Given the description of an element on the screen output the (x, y) to click on. 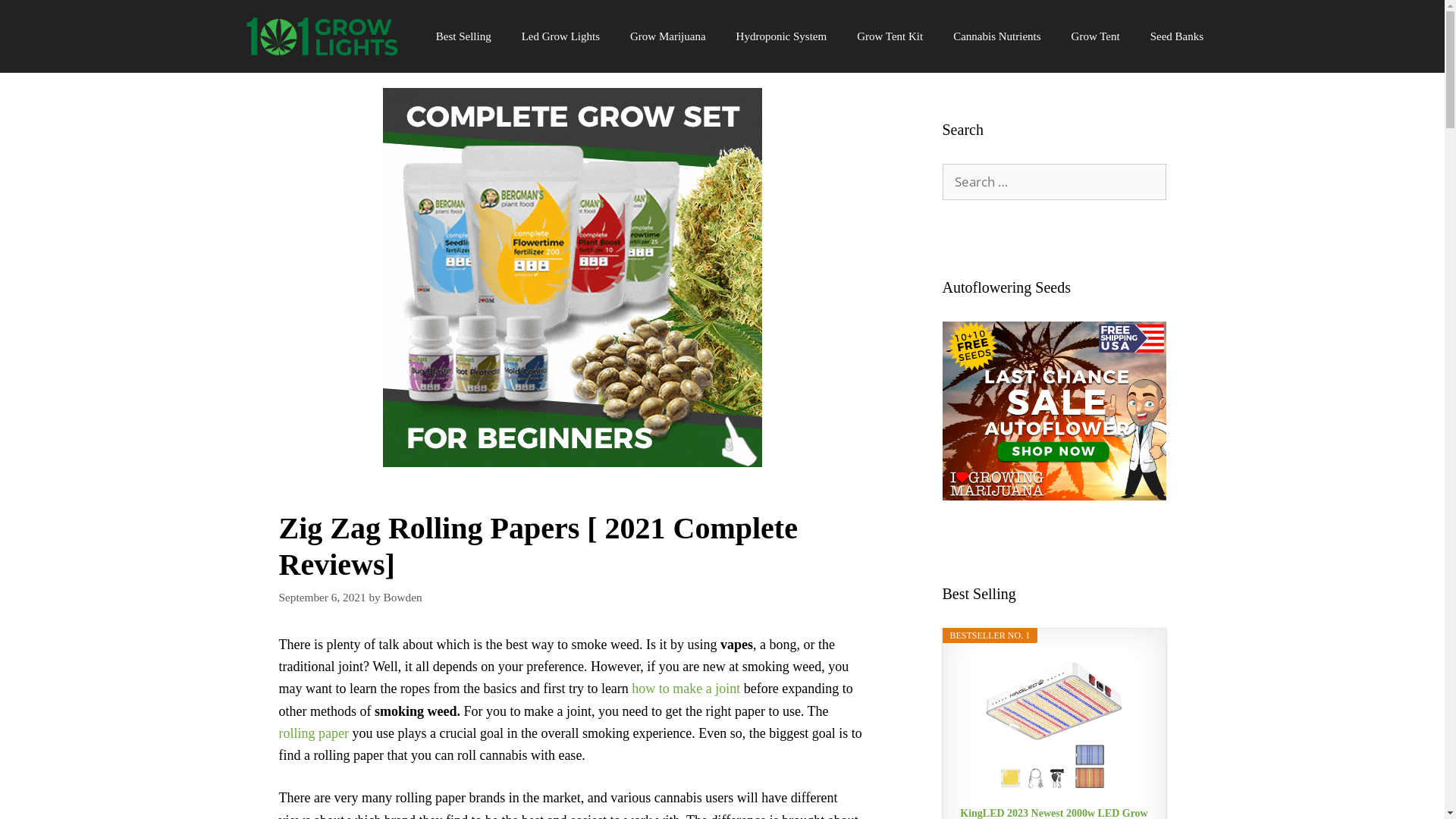
Grow Tent Kit Element type: text (889, 36)
Hydroponic System Element type: text (781, 36)
Grow Tent Element type: text (1095, 36)
Seed Banks Element type: text (1176, 36)
rolling paper Element type: text (313, 732)
Grow Marijuana Element type: text (668, 36)
Bowden Element type: text (402, 596)
Search Element type: text (36, 18)
Search for: Element type: hover (1053, 181)
Cannabis Nutrients Element type: text (996, 36)
Best Selling Element type: text (463, 36)
how to make a joint Element type: text (685, 688)
Led Grow Lights Element type: text (560, 36)
